Given the description of an element on the screen output the (x, y) to click on. 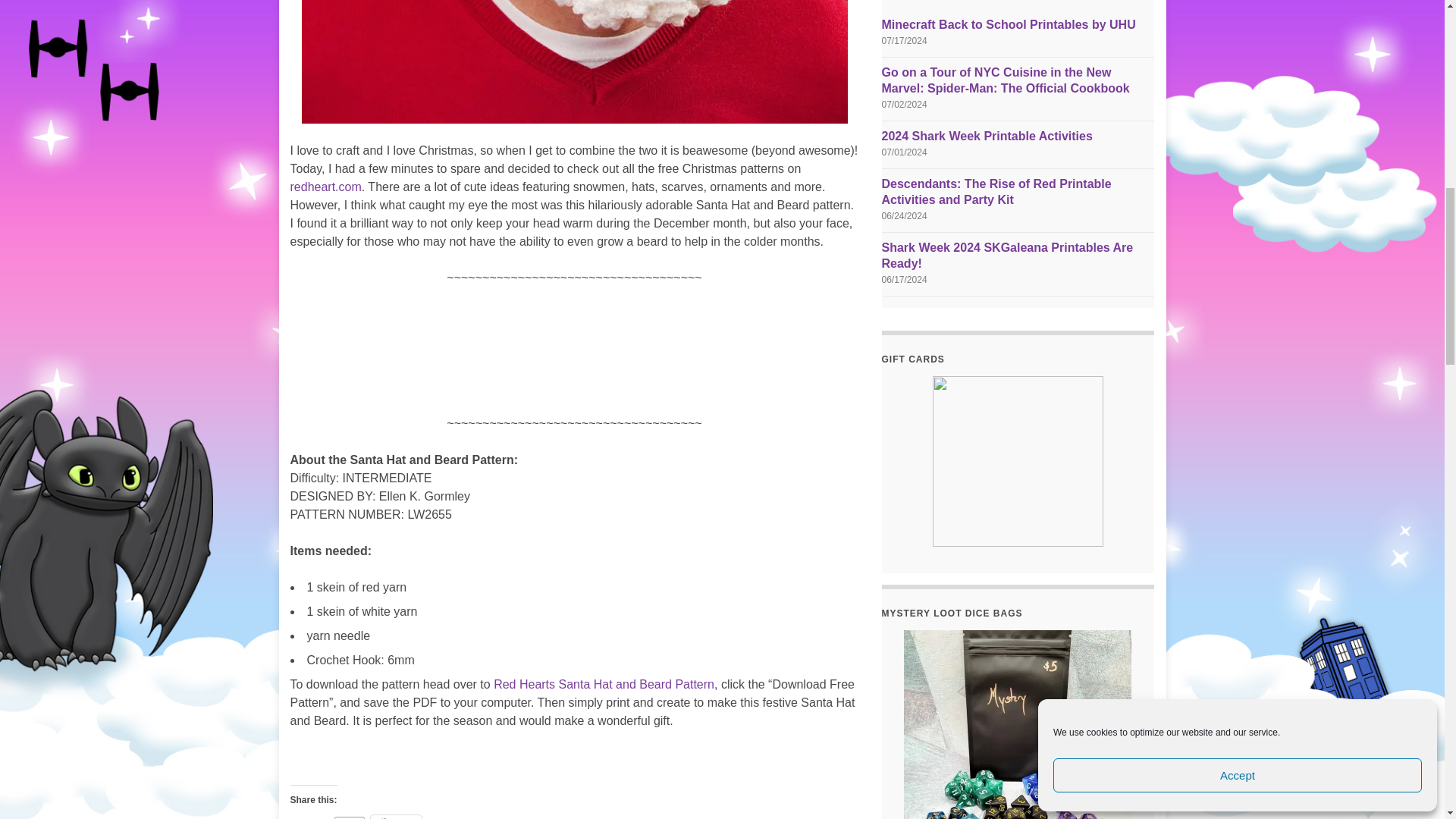
Click to share on Reddit (396, 816)
